Given the description of an element on the screen output the (x, y) to click on. 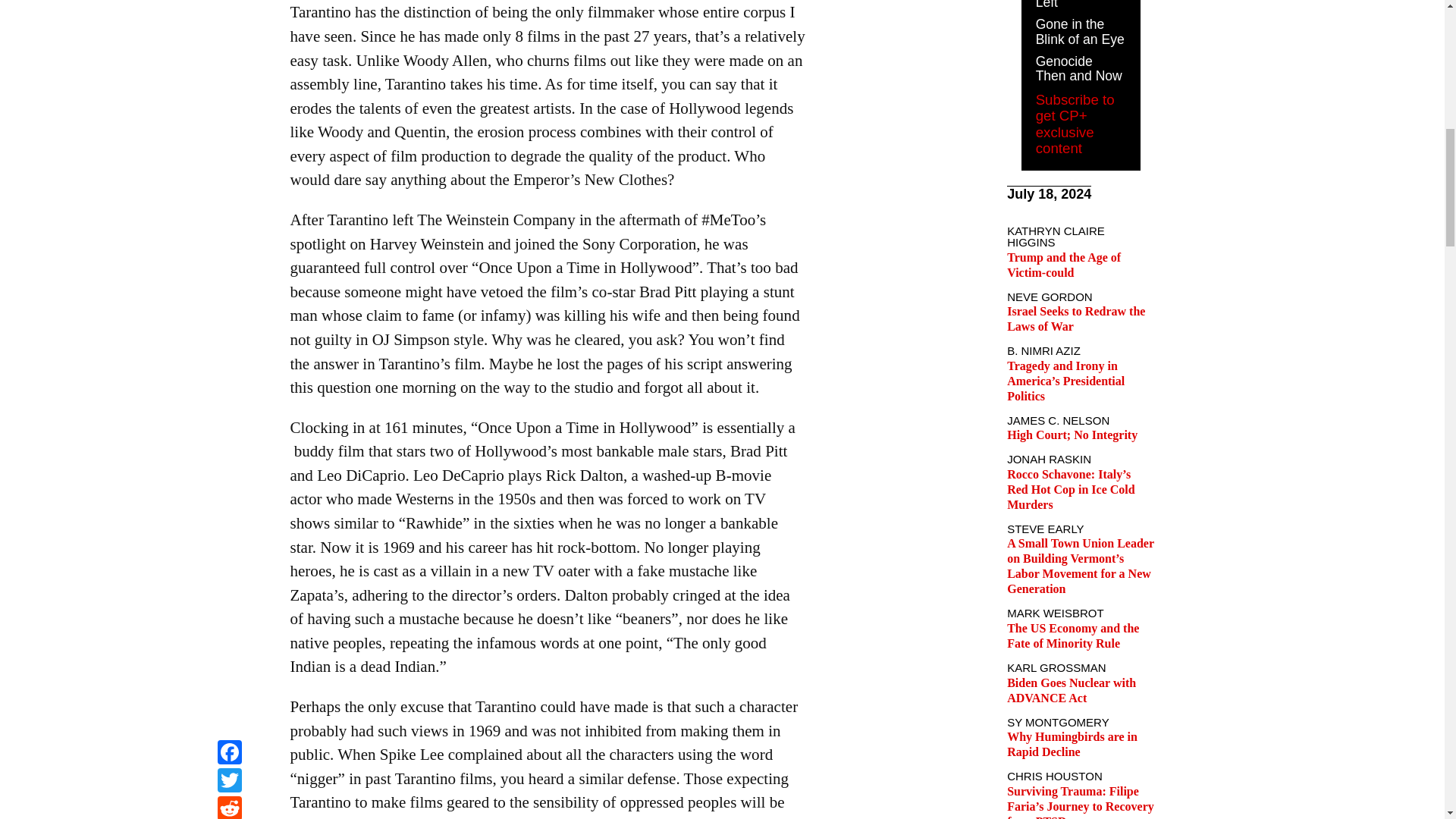
Trump and the Age of Victim-could (1064, 264)
Reddit (229, 2)
Genocide Then and Now (1078, 69)
Email (229, 18)
Reddit (229, 2)
The Molting of the Dirtbag Left (1077, 4)
Email (229, 18)
Gone in the Blink of an Eye (1079, 31)
